Given the description of an element on the screen output the (x, y) to click on. 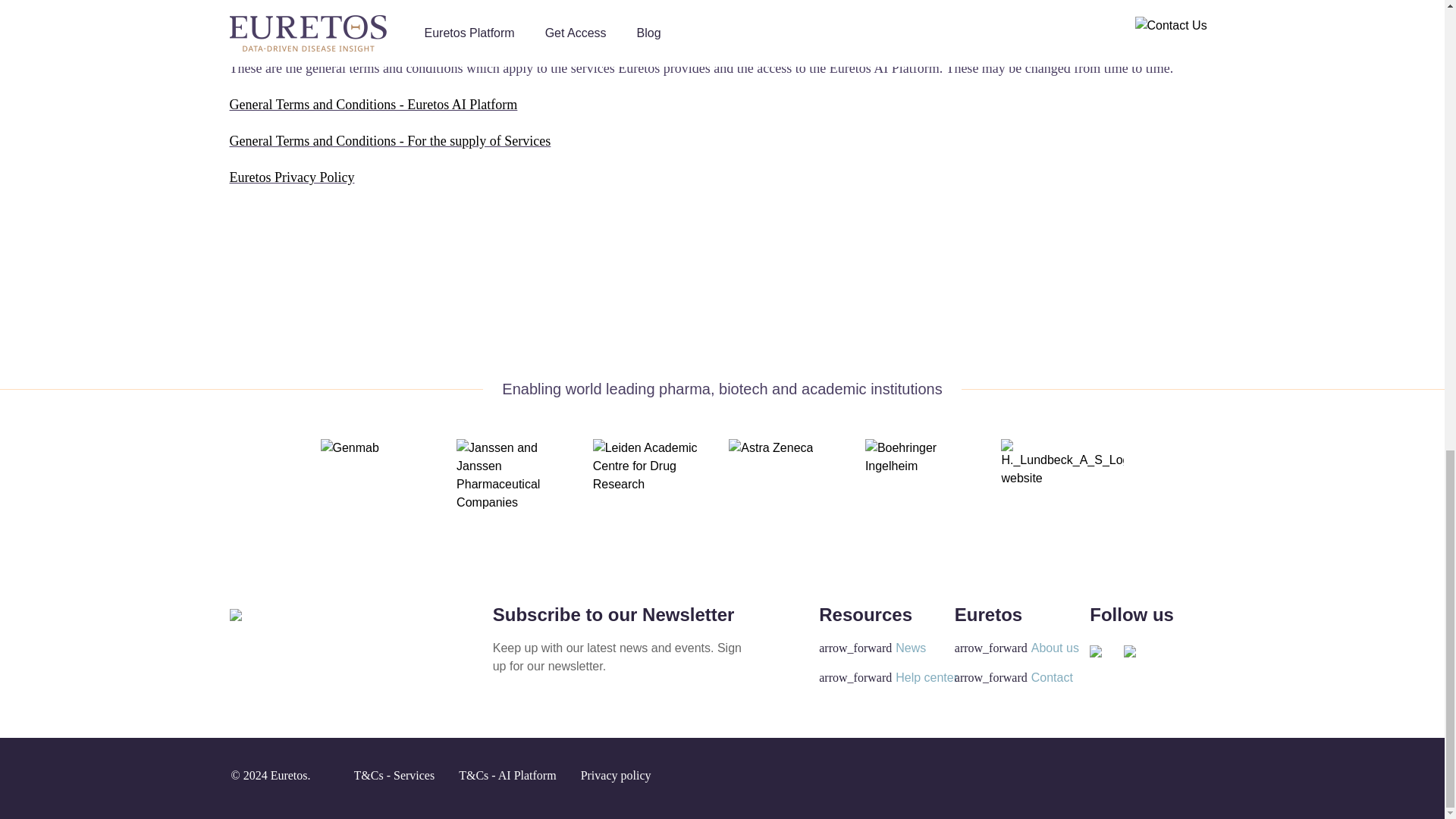
Help center (888, 678)
Privacy policy (615, 775)
Euretos Privacy Policy (290, 177)
News (872, 648)
General Terms and Conditions - Euretos AI Platform (372, 104)
About us (1016, 648)
General Terms and Conditions - For the supply of Services (389, 140)
Contact (1014, 678)
